Given the description of an element on the screen output the (x, y) to click on. 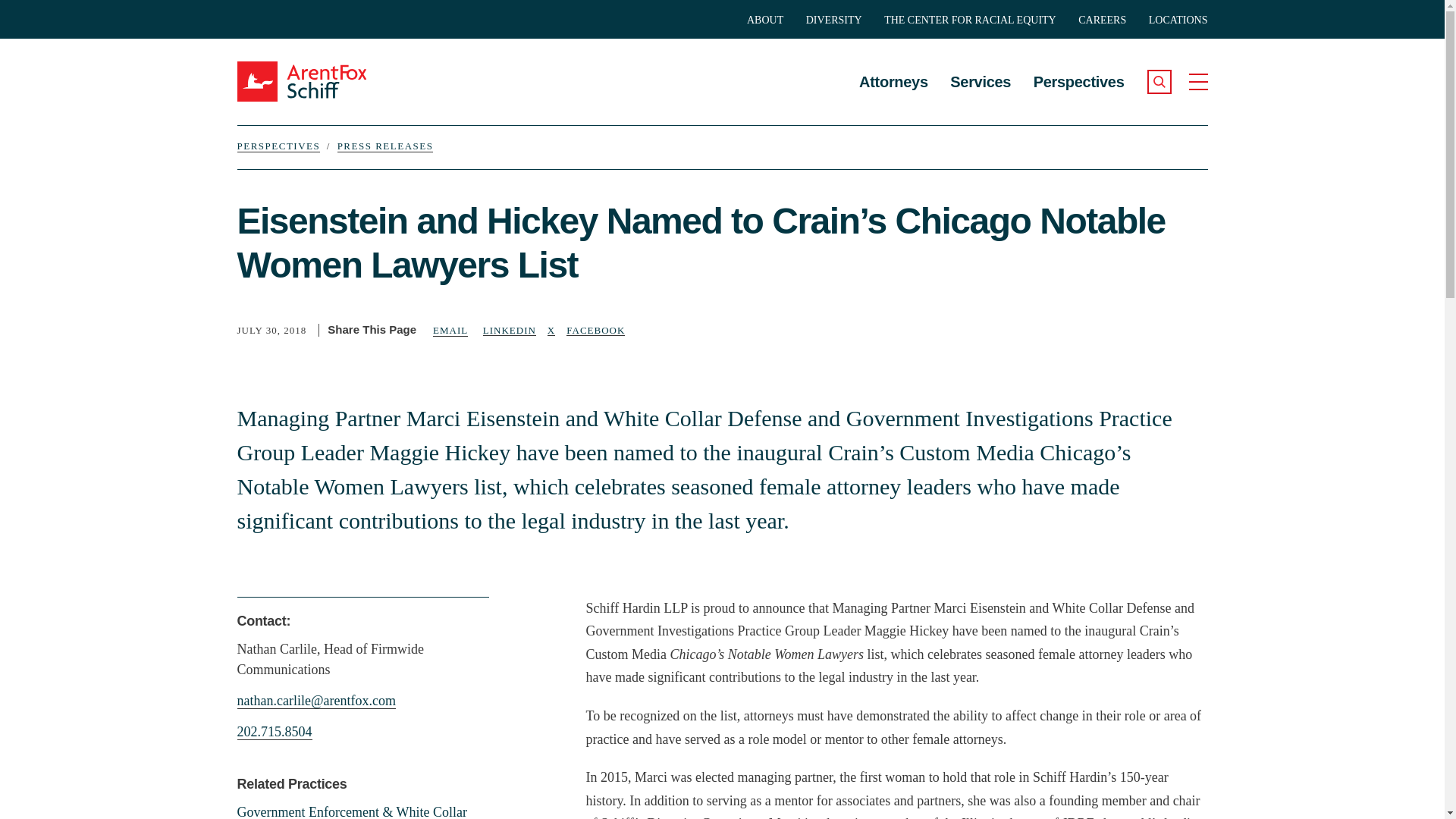
Search the Site (1158, 81)
Services (980, 70)
ArentFox Schiff (319, 81)
CAREERS (1101, 20)
LOCATIONS (1178, 20)
ABOUT (764, 20)
Home (319, 81)
DIVERSITY (833, 20)
Perspectives (1078, 70)
THE CENTER FOR RACIAL EQUITY (970, 20)
Attorneys (893, 70)
